Given the description of an element on the screen output the (x, y) to click on. 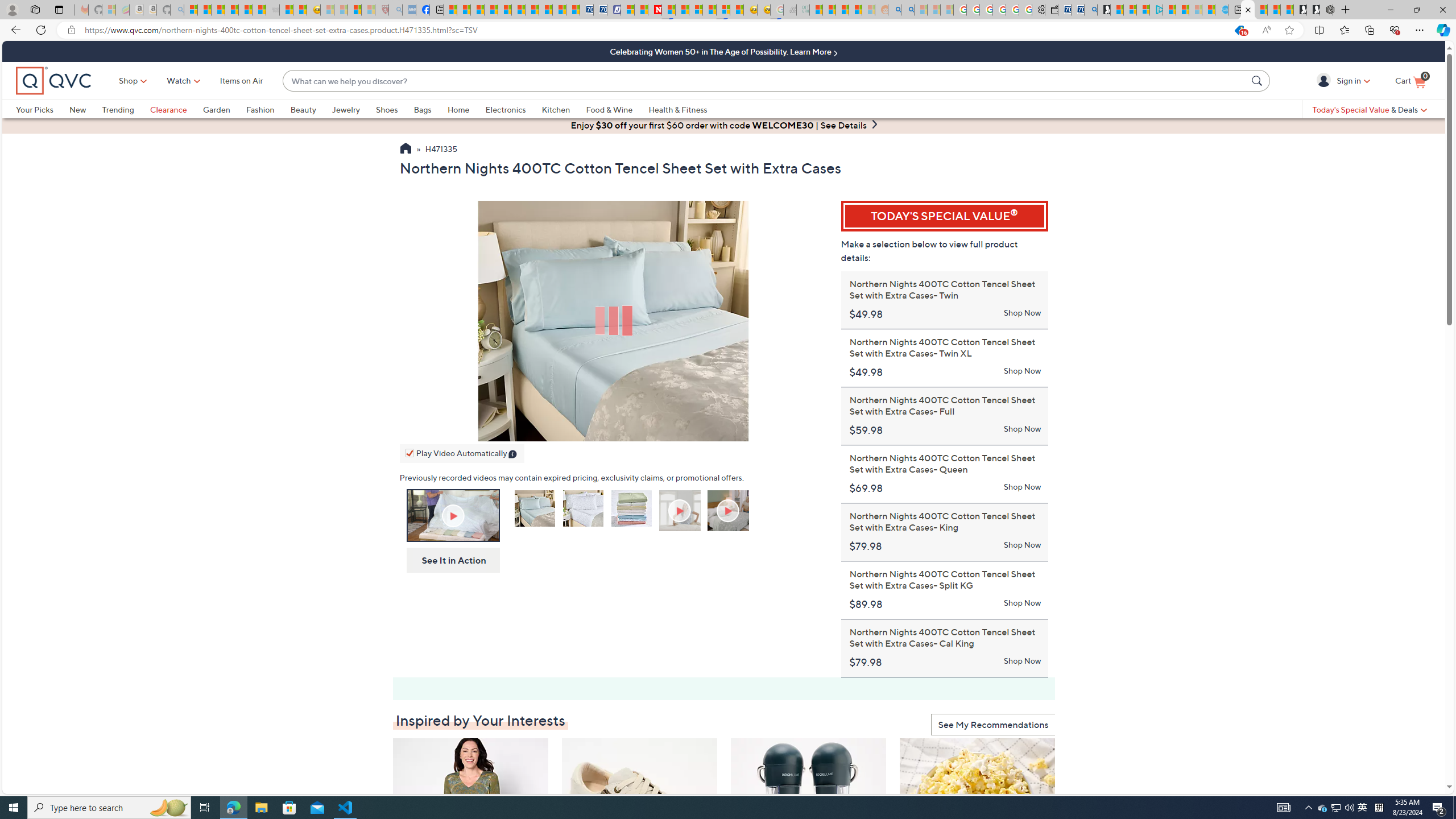
The Weather Channel - MSN (218, 9)
Latest Politics News & Archive | Newsweek.com (654, 9)
Electronics (512, 109)
Enhance video (1266, 29)
Climate Damage Becomes Too Severe To Reverse (490, 9)
Trending (125, 109)
Full Screen (807, 429)
